Given the description of an element on the screen output the (x, y) to click on. 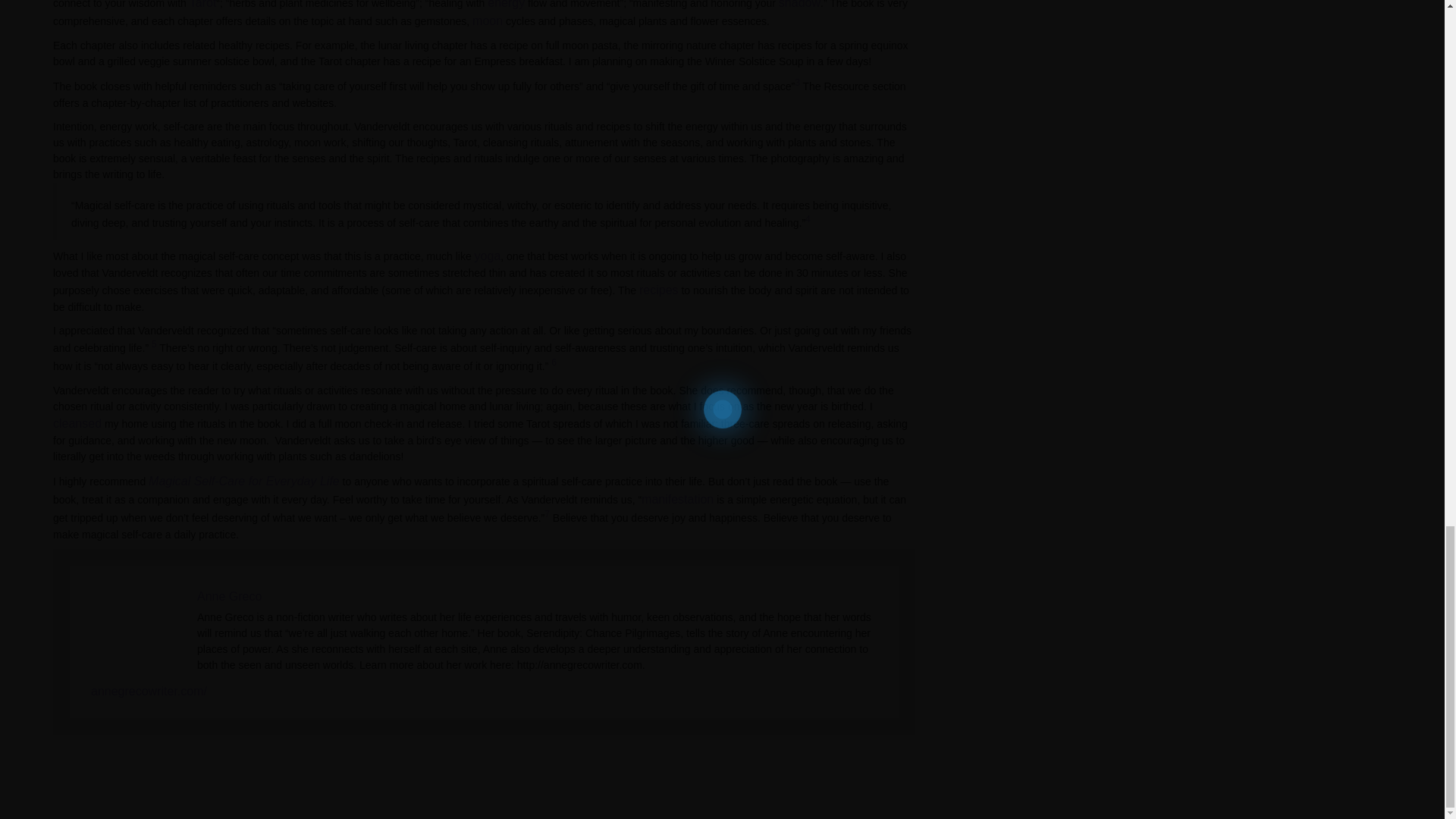
energy (505, 4)
shadow (799, 4)
yoga (487, 255)
recipes (658, 289)
moon (486, 20)
Tarot (202, 4)
